Given the description of an element on the screen output the (x, y) to click on. 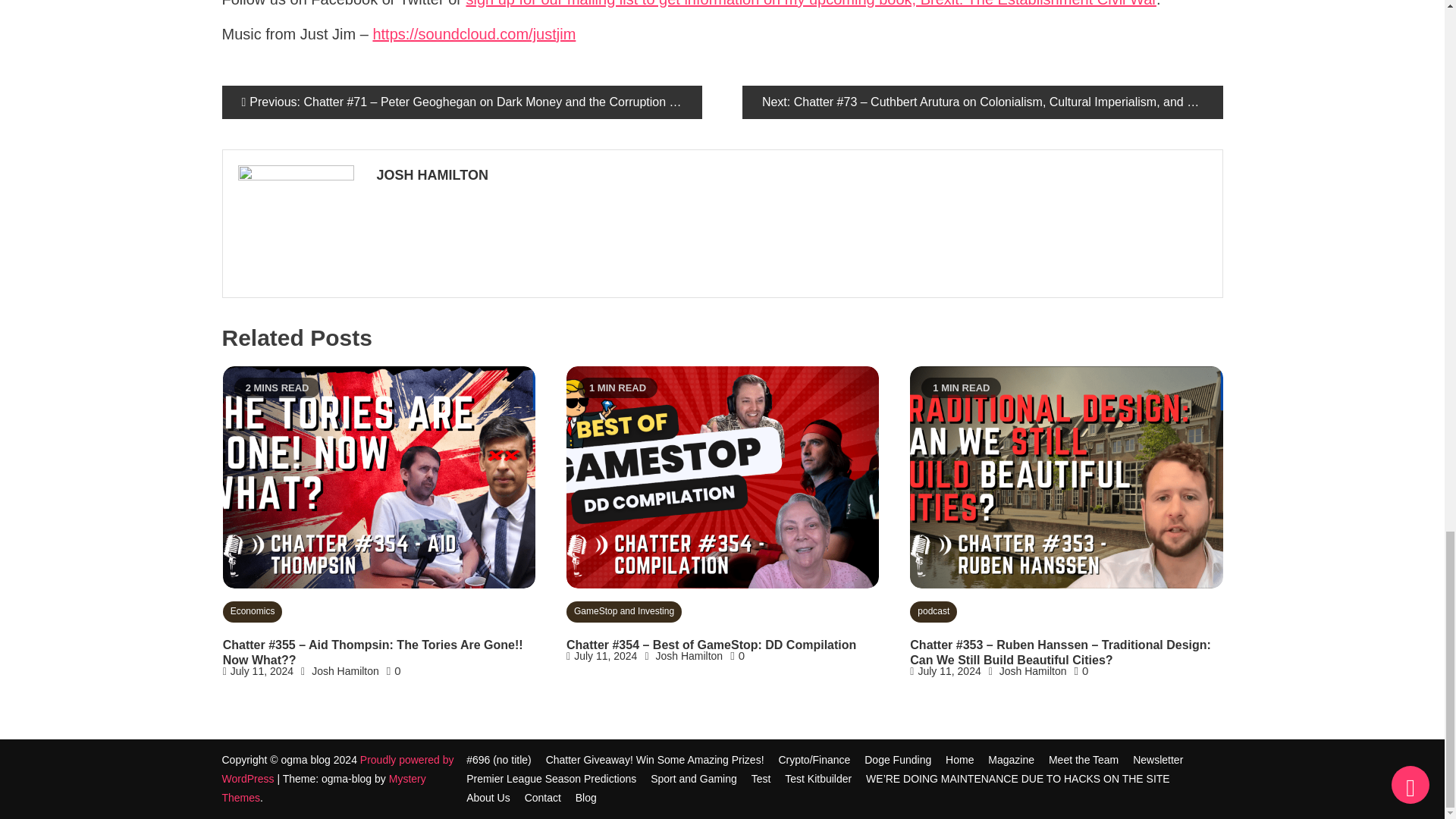
Posts by Josh Hamilton (788, 175)
